Given the description of an element on the screen output the (x, y) to click on. 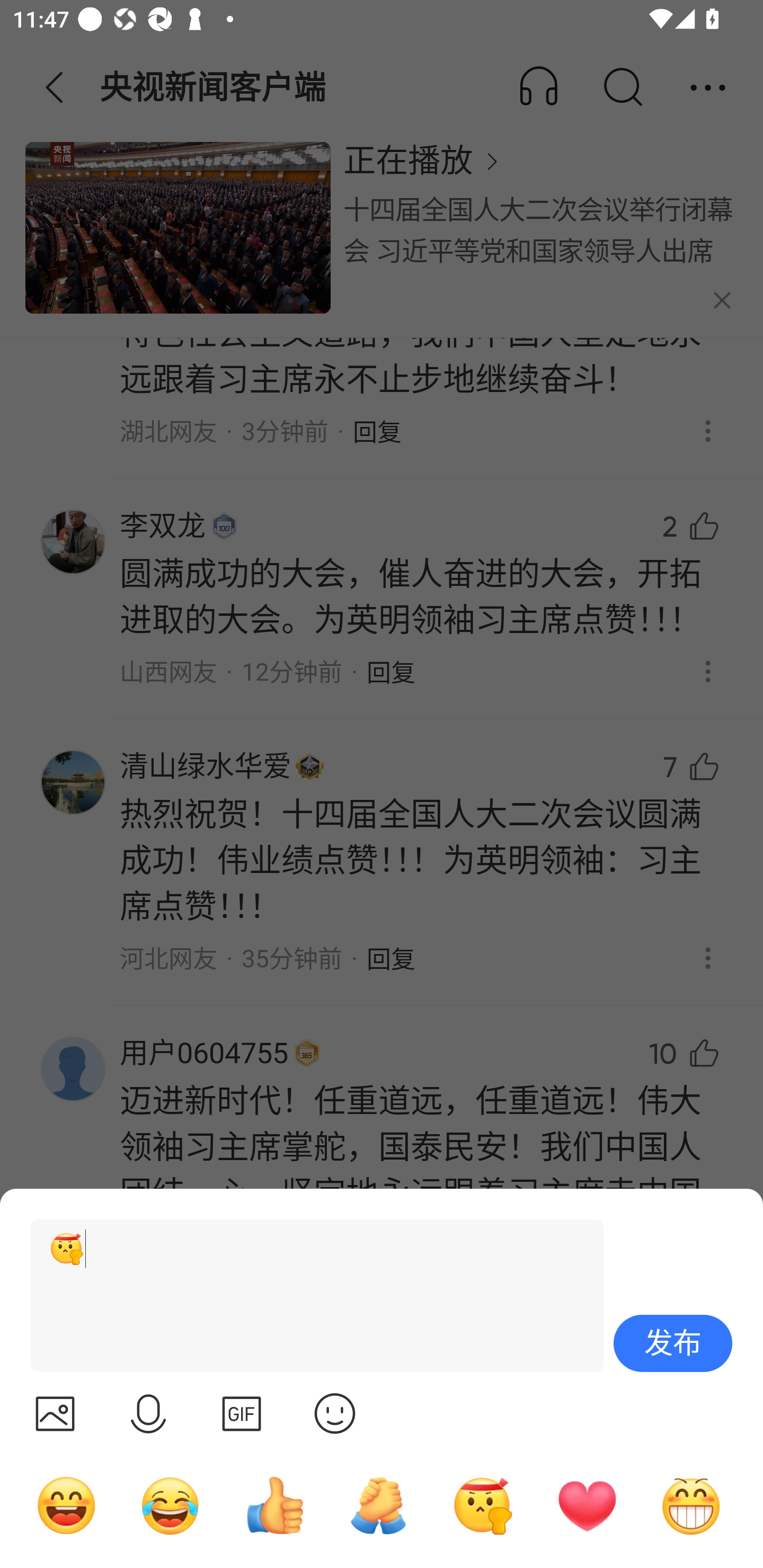
[奋斗] (308, 1295)
发布 (672, 1343)
 (54, 1413)
 (148, 1413)
 (241, 1413)
 (334, 1413)
哈哈 (66, 1505)
哭笑 (170, 1505)
点赞 (274, 1505)
加油 (378, 1505)
奋斗 (482, 1505)
心 (586, 1505)
呲牙 (690, 1505)
